Given the description of an element on the screen output the (x, y) to click on. 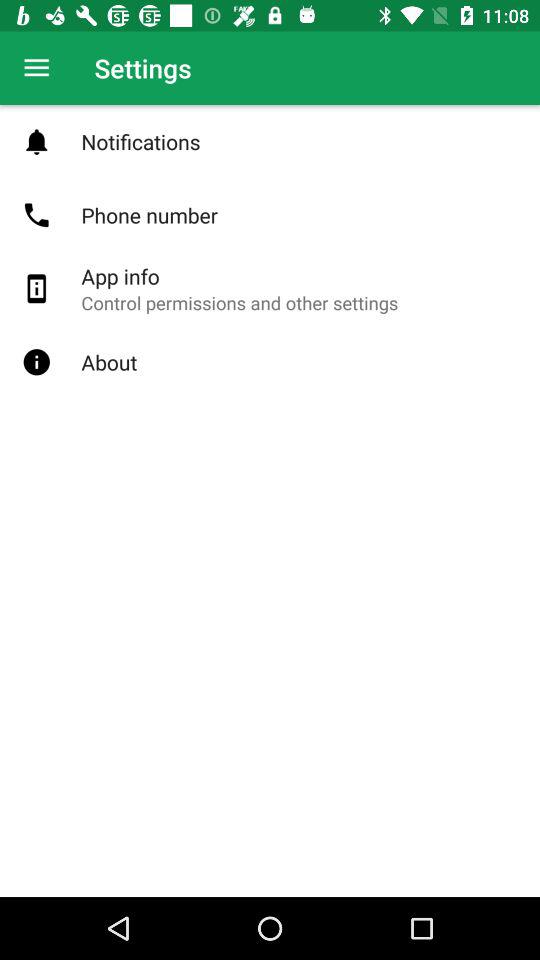
tap item next to settings item (36, 68)
